Given the description of an element on the screen output the (x, y) to click on. 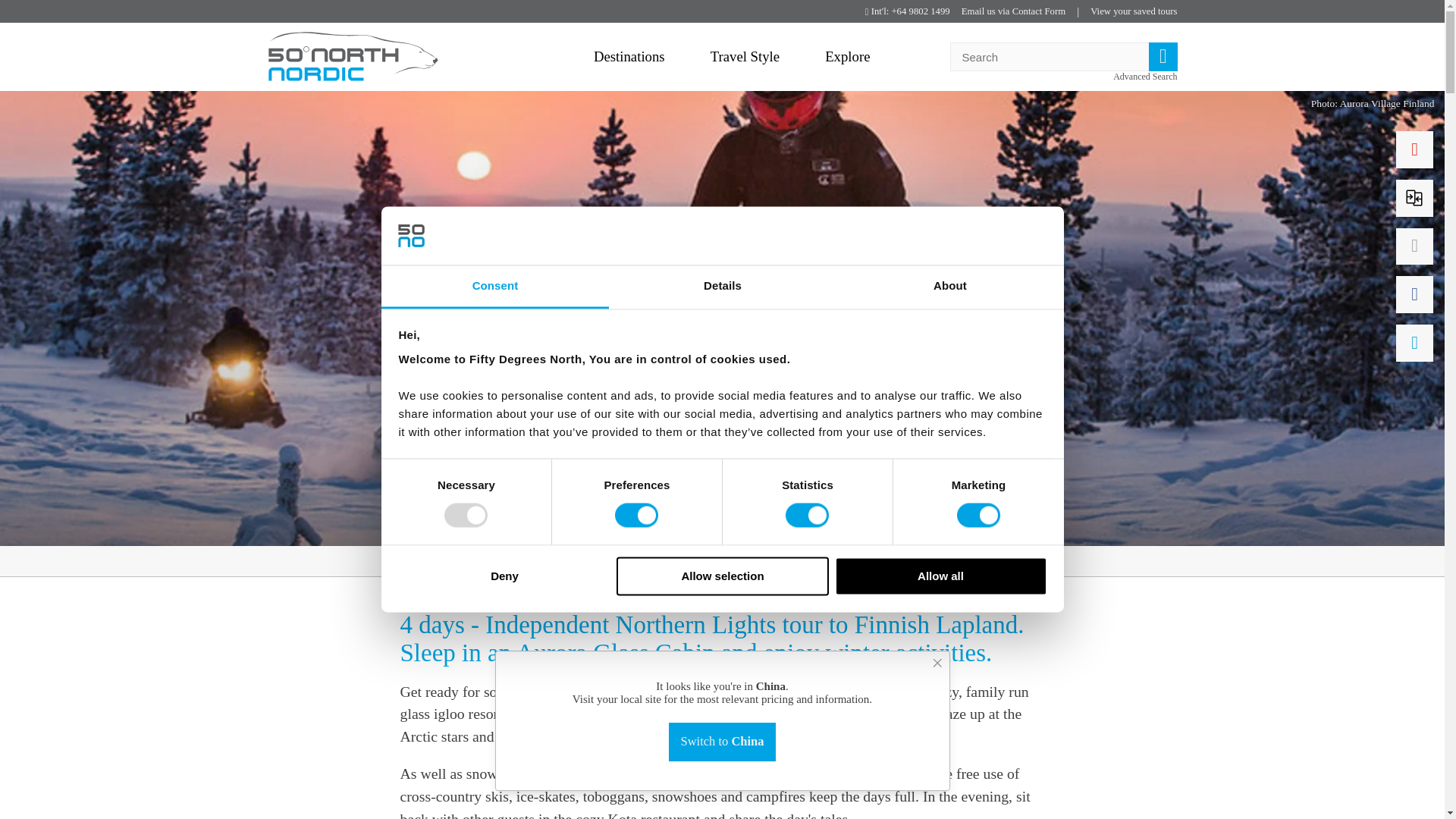
Details (721, 286)
Consent (494, 286)
About (948, 286)
